Given the description of an element on the screen output the (x, y) to click on. 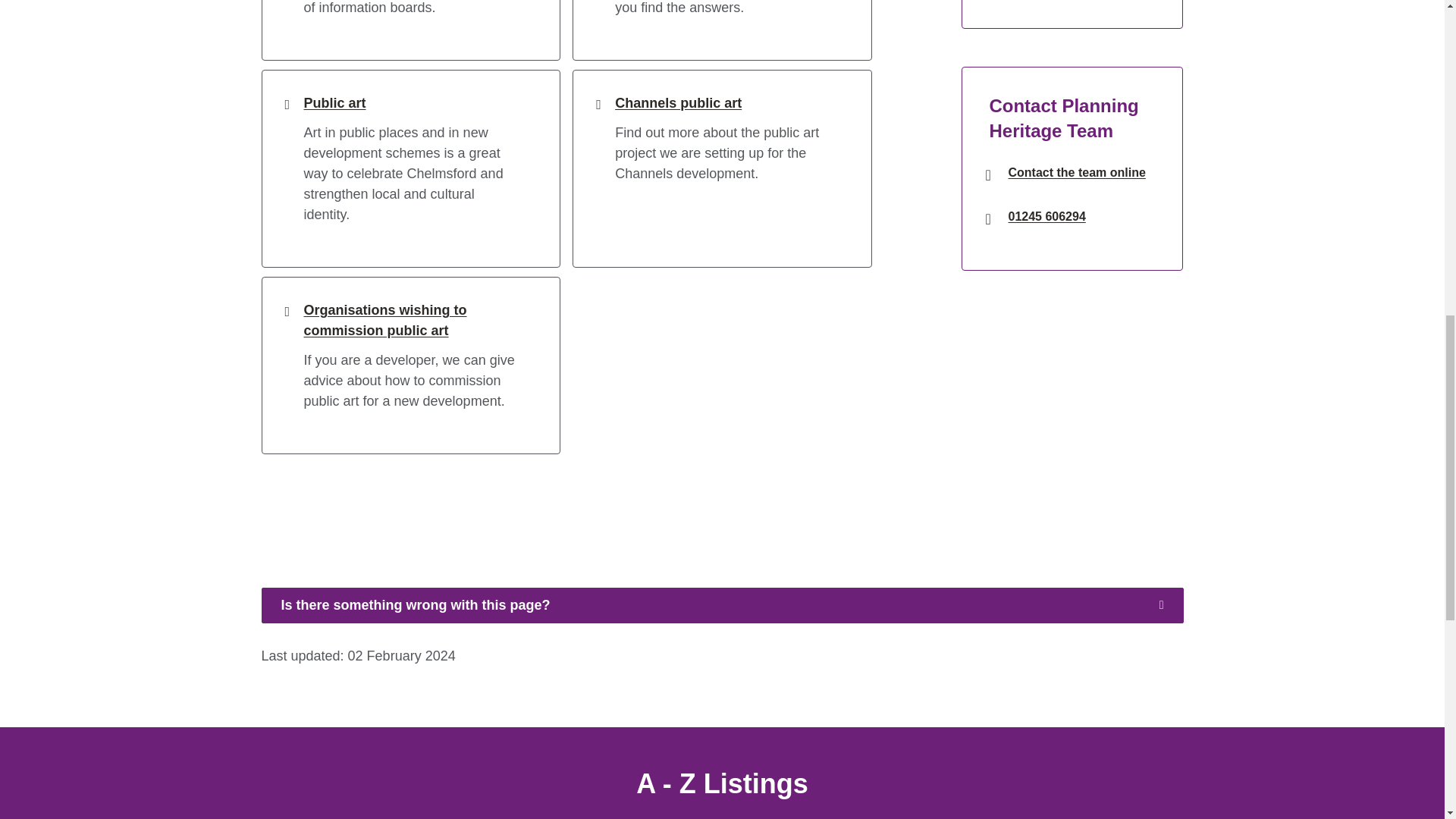
Is there something wrong with this page? (721, 605)
Contact the team online (1075, 172)
01245 606294 (1081, 216)
Contact: Planning Heritage (1075, 172)
